Given the description of an element on the screen output the (x, y) to click on. 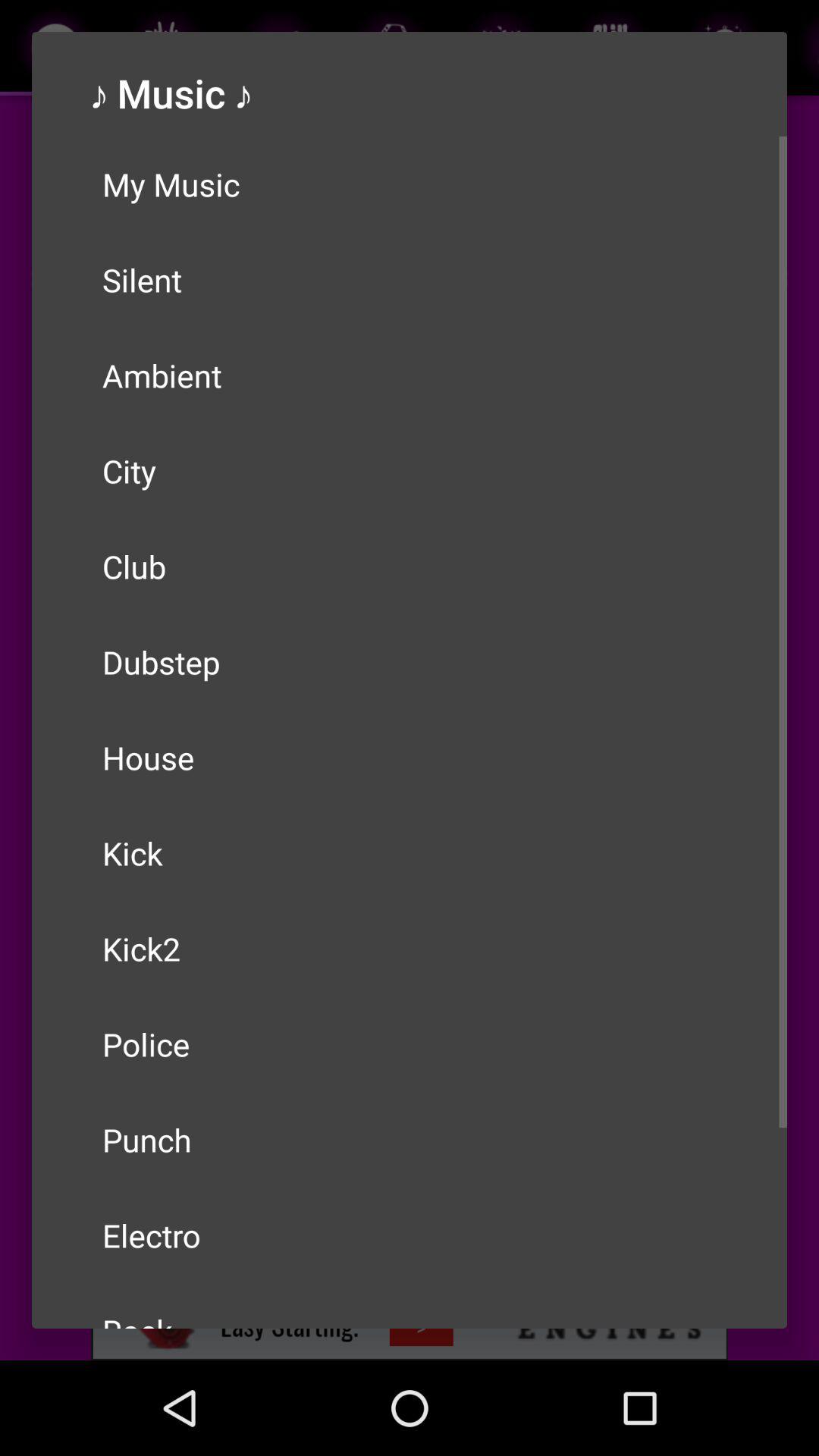
flip to the 		police icon (409, 1044)
